Given the description of an element on the screen output the (x, y) to click on. 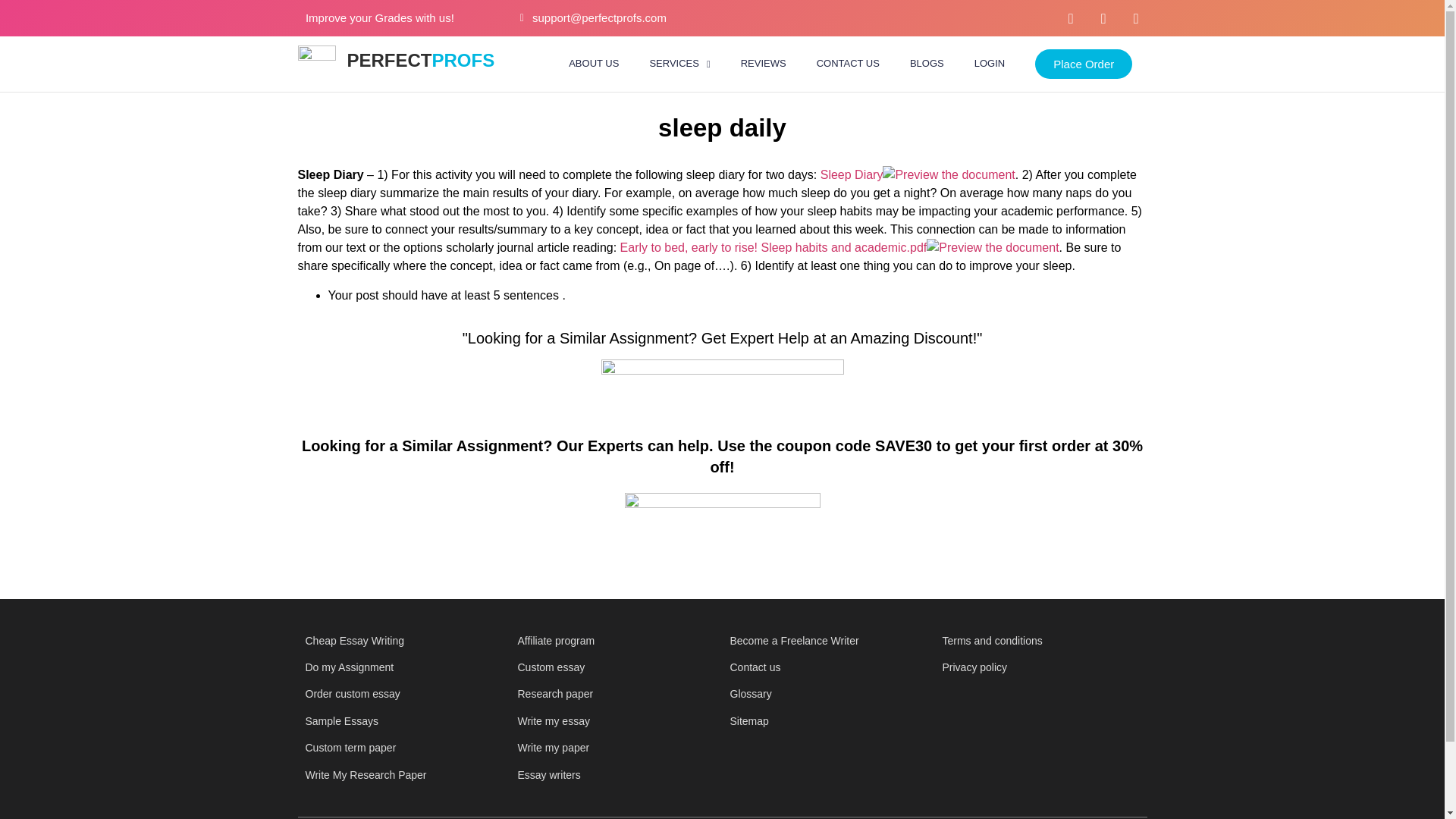
Preview the document (992, 246)
REVIEWS (763, 63)
SERVICES (679, 63)
PERFECTPROFS (421, 59)
Sleep Diary-1.doc (852, 174)
ABOUT US (593, 63)
BLOGS (927, 63)
Preview the document (948, 174)
Early to bed, early to rise! Sleep habits and academic.pdf (773, 246)
LOGIN (989, 63)
